Given the description of an element on the screen output the (x, y) to click on. 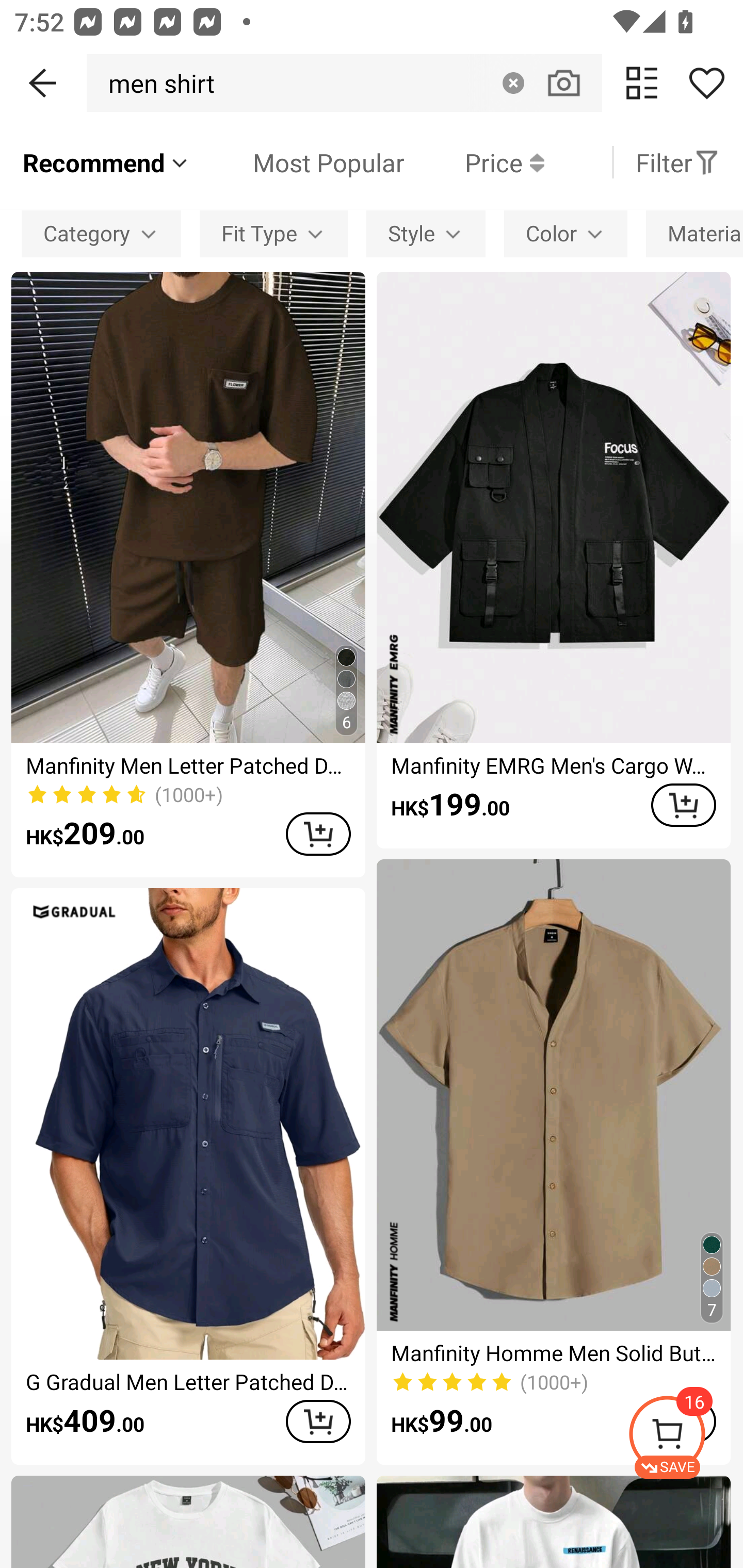
men shirt Clear (343, 82)
men shirt (155, 82)
Clear (513, 82)
change view (641, 82)
Share (706, 82)
Recommend (106, 162)
Most Popular (297, 162)
Price (474, 162)
Filter (677, 162)
Category (101, 233)
Fit Type (273, 233)
Style (425, 233)
Color (565, 233)
Material (694, 233)
ADD TO CART (683, 805)
ADD TO CART (318, 834)
SAVE (685, 1436)
ADD TO CART (318, 1421)
